Given the description of an element on the screen output the (x, y) to click on. 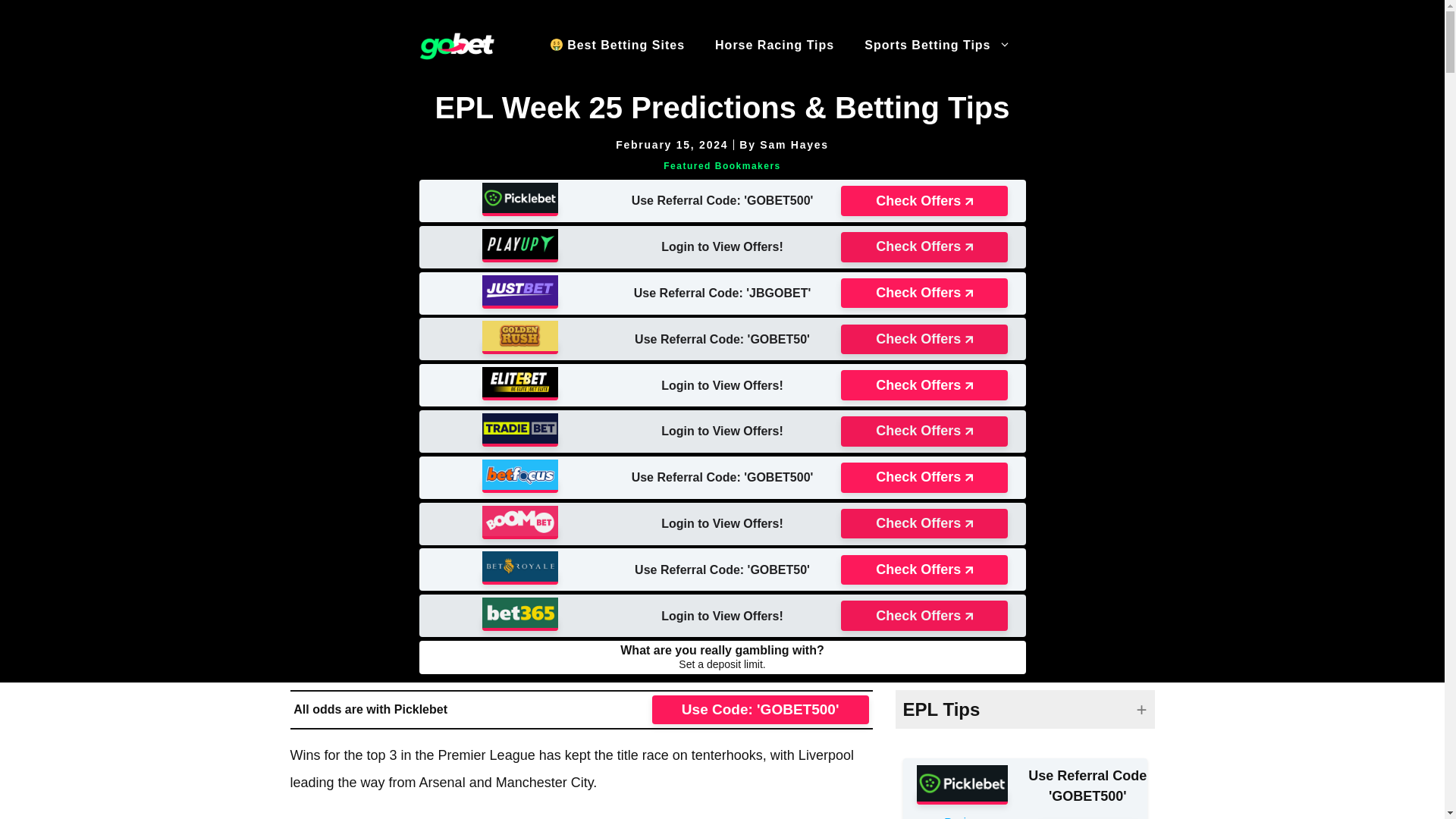
Check Offers (924, 431)
Check Offers (924, 385)
Best Betting Sites (617, 44)
Check Offers (924, 246)
Sports Betting Tips (936, 44)
Sam Hayes (794, 144)
Check Offers (924, 570)
Check Offers (924, 523)
Check Offers (924, 477)
Horse Racing Tips (774, 44)
Check Offers (924, 293)
Check Offers (924, 200)
Check Offers (924, 339)
